Given the description of an element on the screen output the (x, y) to click on. 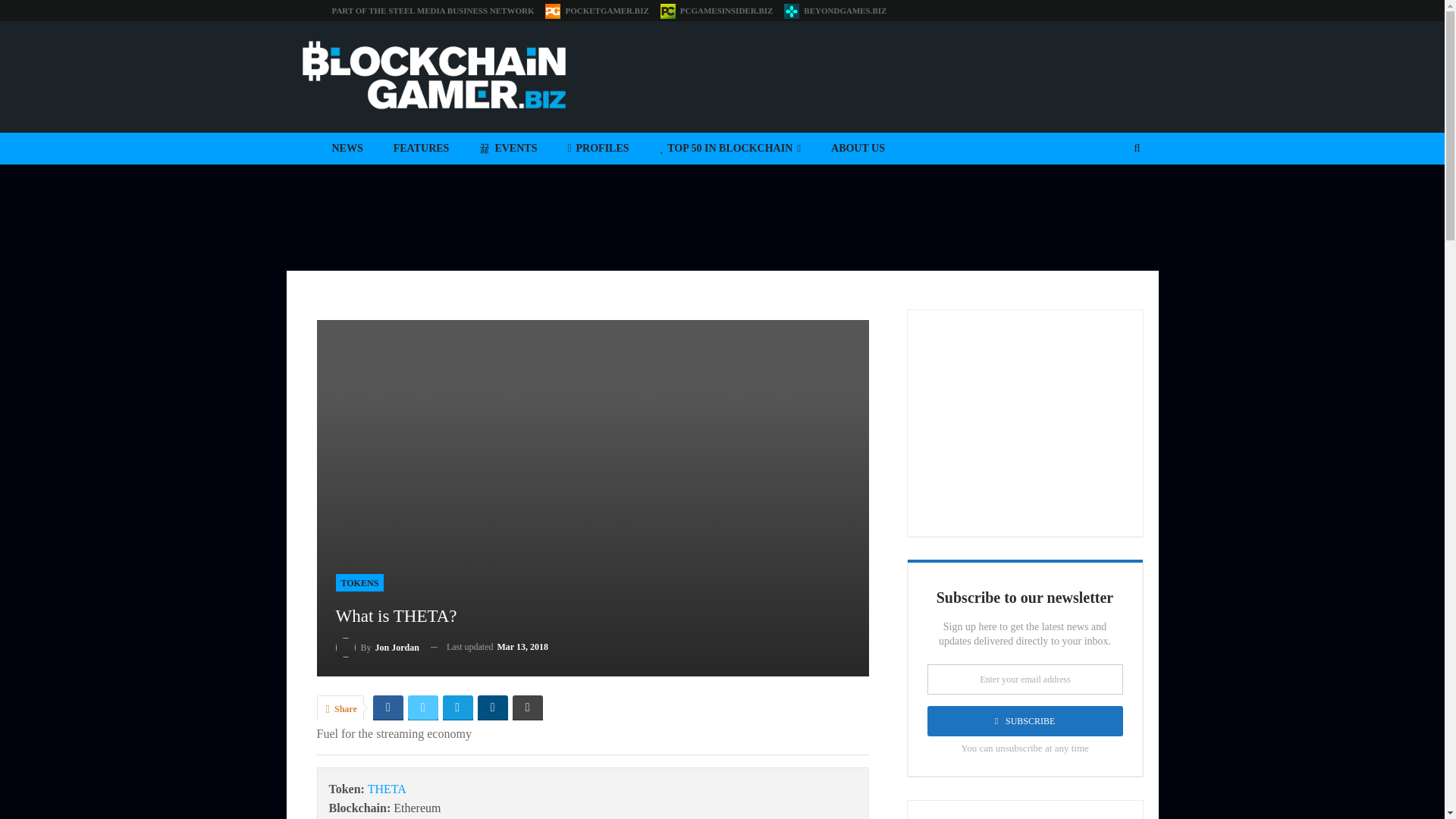
BEYONDGAMES.BIZ (835, 10)
TOKENS (359, 582)
By Jon Jordan (376, 647)
TOP 50 IN BLOCKCHAIN (730, 148)
PCGAMESINSIDER.BIZ (717, 10)
POCKETGAMER.BIZ (595, 10)
ABOUT US (857, 148)
FEATURES (421, 148)
Browse Author Articles (376, 647)
NEWS (347, 148)
THETA (387, 788)
EVENTS (507, 148)
PART OF THE STEEL MEDIA BUSINESS NETWORK (432, 10)
PROFILES (597, 148)
